Given the description of an element on the screen output the (x, y) to click on. 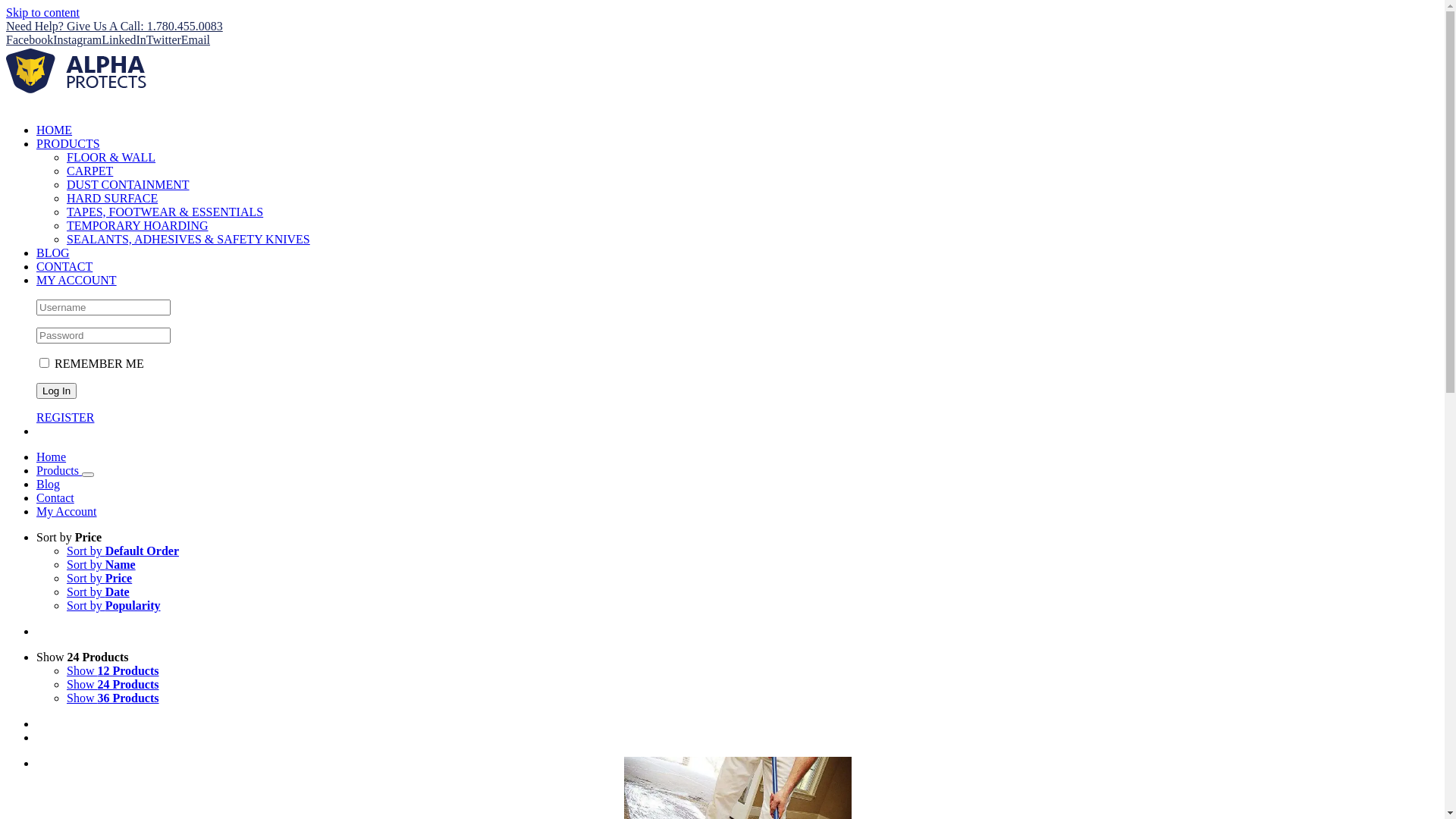
HOME Element type: text (54, 129)
Need Help? Give Us A Call: 1.780.455.0083 Element type: text (114, 25)
FLOOR & WALL Element type: text (110, 156)
Contact Element type: text (55, 497)
Sort by Price Element type: text (68, 536)
Products Element type: text (58, 470)
Blog Element type: text (47, 483)
MY ACCOUNT Element type: text (76, 279)
Sort by Default Order Element type: text (122, 550)
Home Element type: text (50, 456)
SEALANTS, ADHESIVES & SAFETY KNIVES Element type: text (188, 238)
Show 24 Products Element type: text (112, 683)
LinkedIn Element type: text (123, 39)
Show 12 Products Element type: text (112, 670)
Twitter Element type: text (163, 39)
Sort by Price Element type: text (98, 577)
Facebook Element type: text (29, 39)
Sort by Name Element type: text (100, 564)
HARD SURFACE Element type: text (111, 197)
Sort by Popularity Element type: text (113, 605)
REGISTER Element type: text (65, 417)
Skip to content Element type: text (42, 12)
Log In Element type: text (56, 390)
My Account Element type: text (66, 511)
Show 36 Products Element type: text (112, 697)
CARPET Element type: text (89, 170)
Instagram Element type: text (77, 39)
Email Element type: text (195, 39)
TEMPORARY HOARDING Element type: text (137, 225)
Sort by Date Element type: text (97, 591)
BLOG Element type: text (52, 252)
CONTACT Element type: text (64, 266)
Show 24 Products Element type: text (82, 656)
DUST CONTAINMENT Element type: text (127, 184)
TAPES, FOOTWEAR & ESSENTIALS Element type: text (164, 211)
PRODUCTS Element type: text (68, 143)
